Given the description of an element on the screen output the (x, y) to click on. 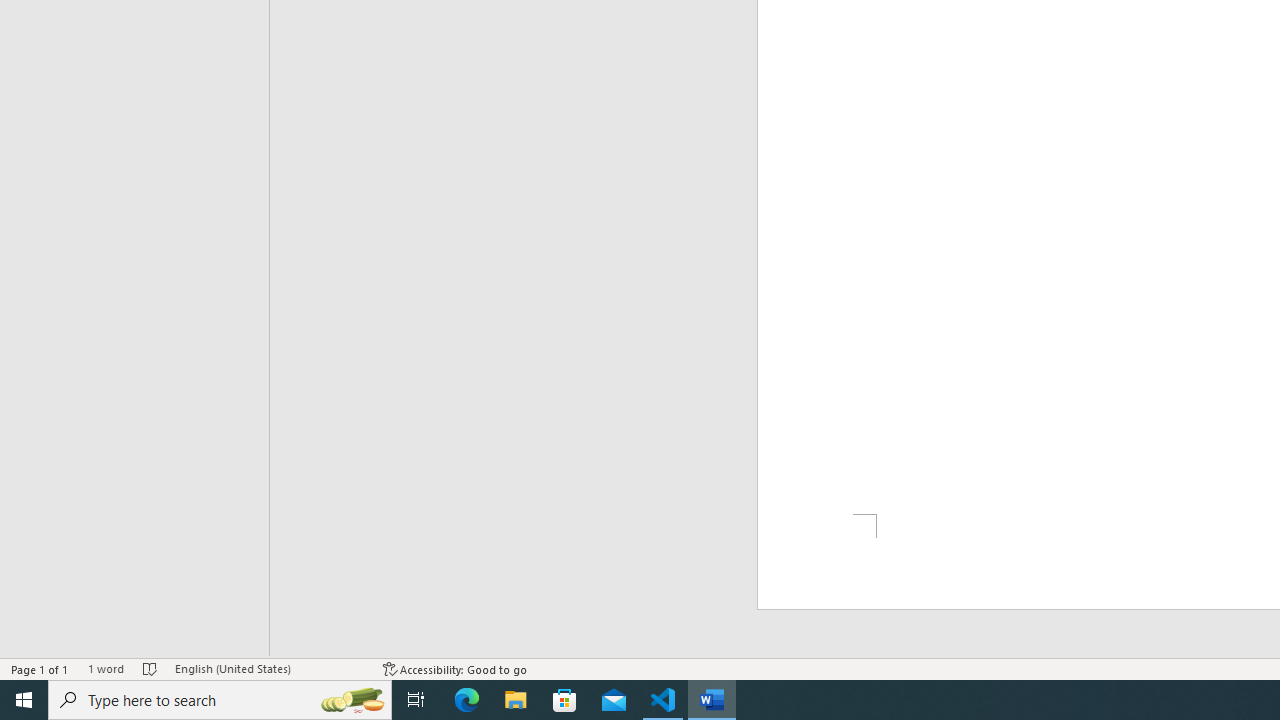
Page Number Page 1 of 1 (39, 668)
Spelling and Grammar Check No Errors (150, 668)
